Given the description of an element on the screen output the (x, y) to click on. 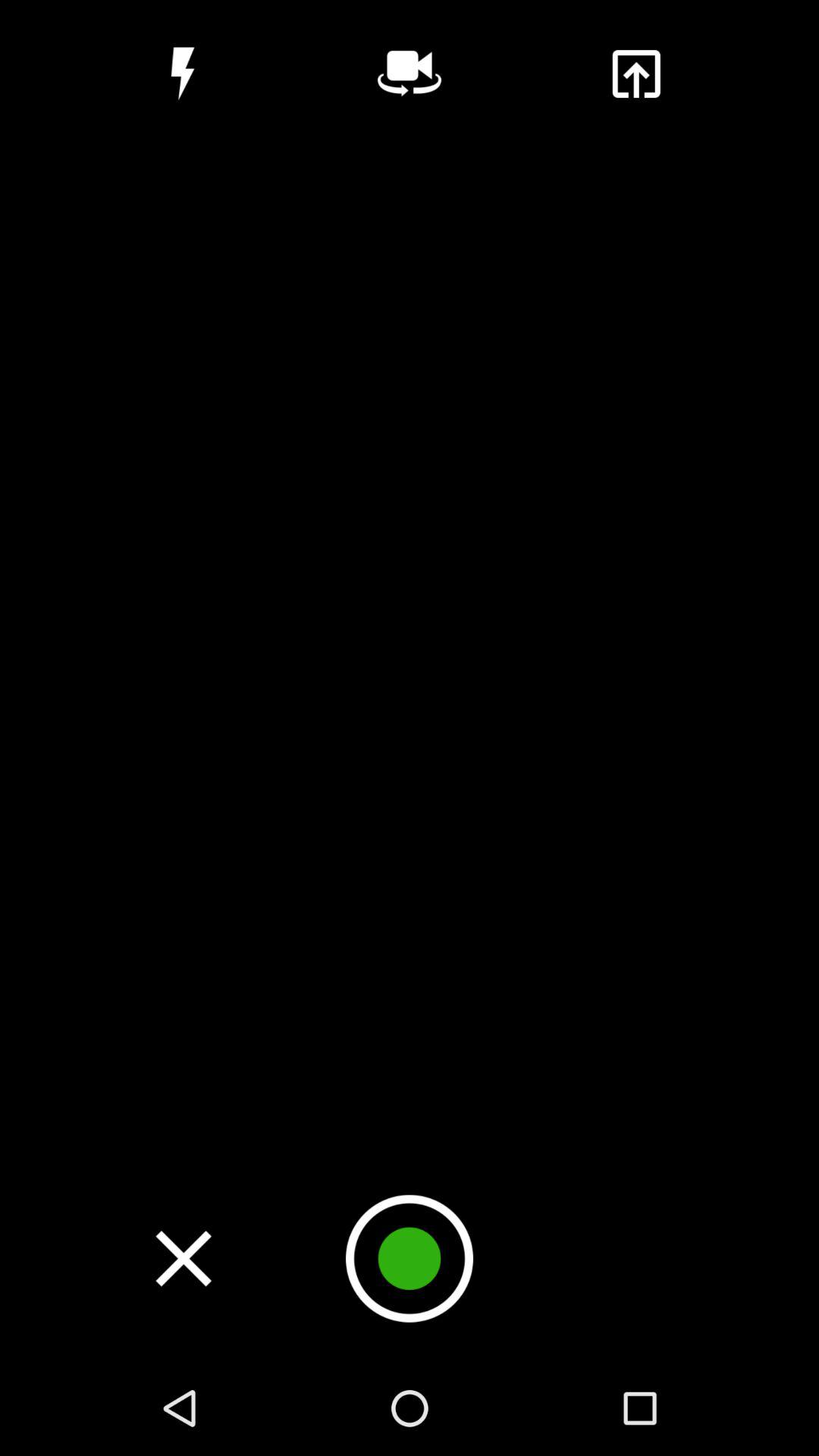
exit video recorder (183, 1258)
